Given the description of an element on the screen output the (x, y) to click on. 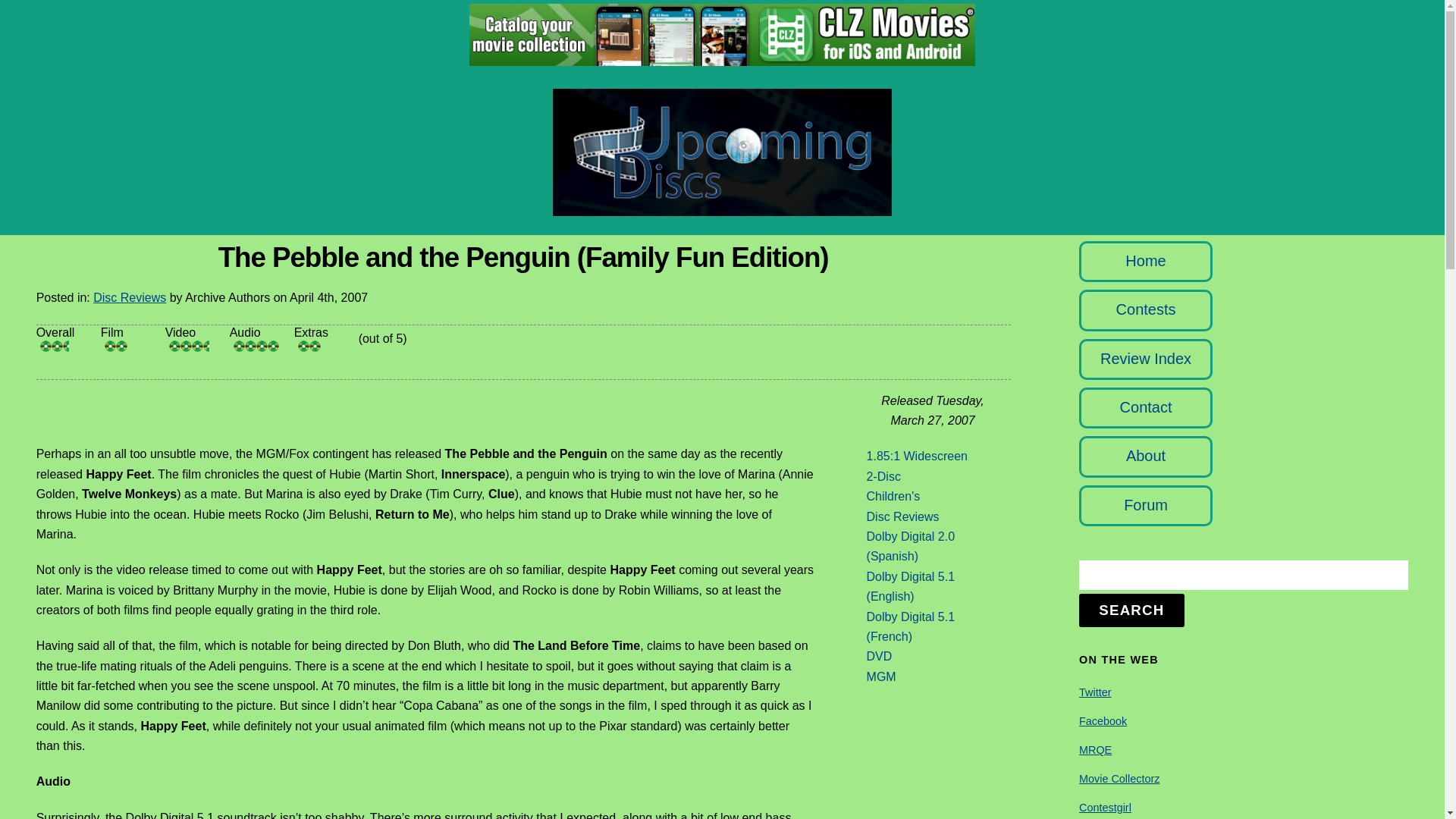
MGM (881, 676)
1.85:1 Widescreen (917, 455)
DVD (879, 656)
Children's (893, 495)
UpcomingDiscs.com (722, 208)
Search (1242, 574)
2-Disc (883, 476)
Disc Reviews (129, 297)
Disc Reviews (902, 516)
